Given the description of an element on the screen output the (x, y) to click on. 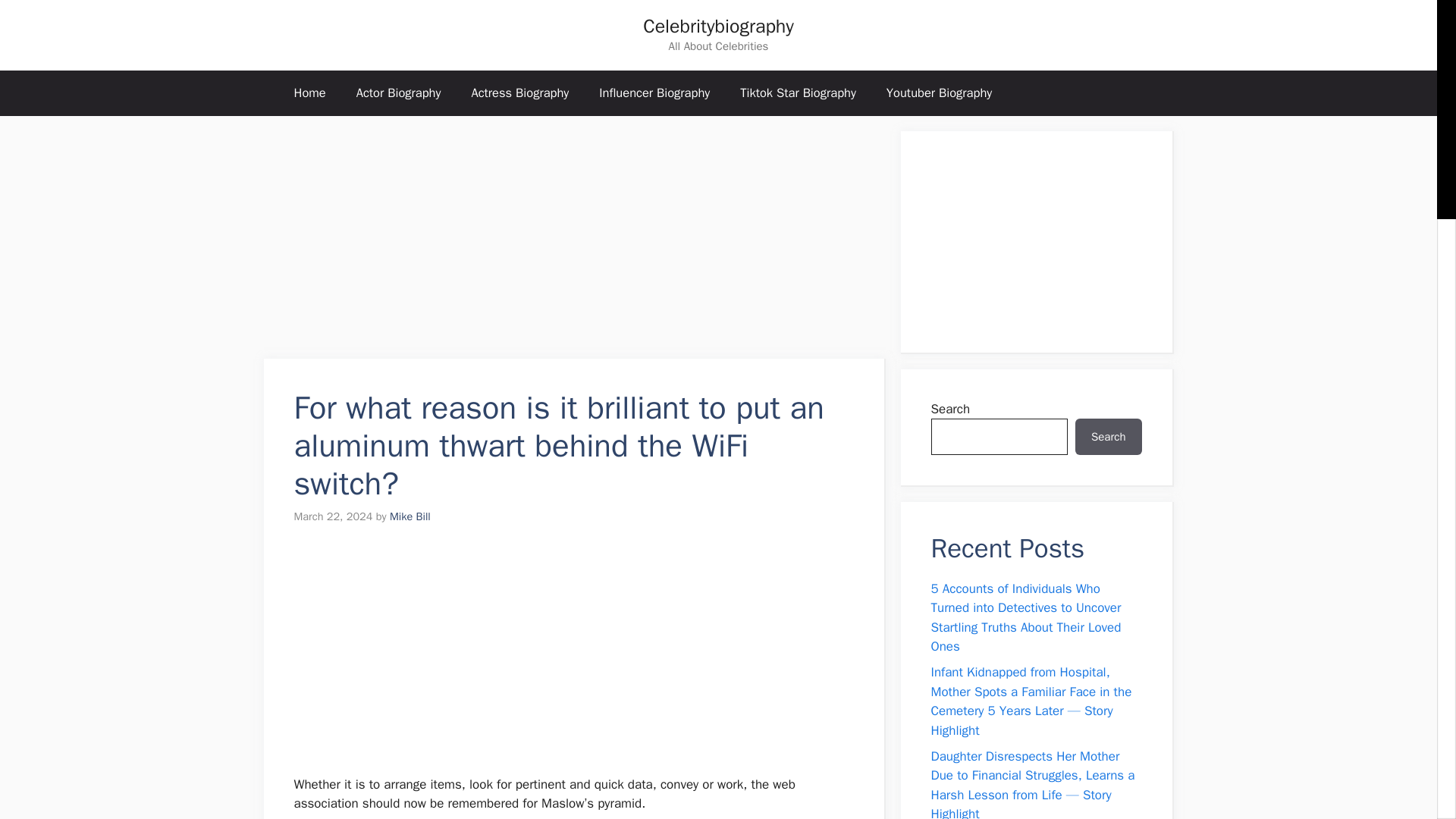
Home (309, 92)
Advertisement (573, 657)
Actress Biography (519, 92)
Actor Biography (398, 92)
Search (1108, 436)
Advertisement (574, 236)
Mike Bill (410, 516)
Celebritybiography (718, 25)
Influencer Biography (654, 92)
